Given the description of an element on the screen output the (x, y) to click on. 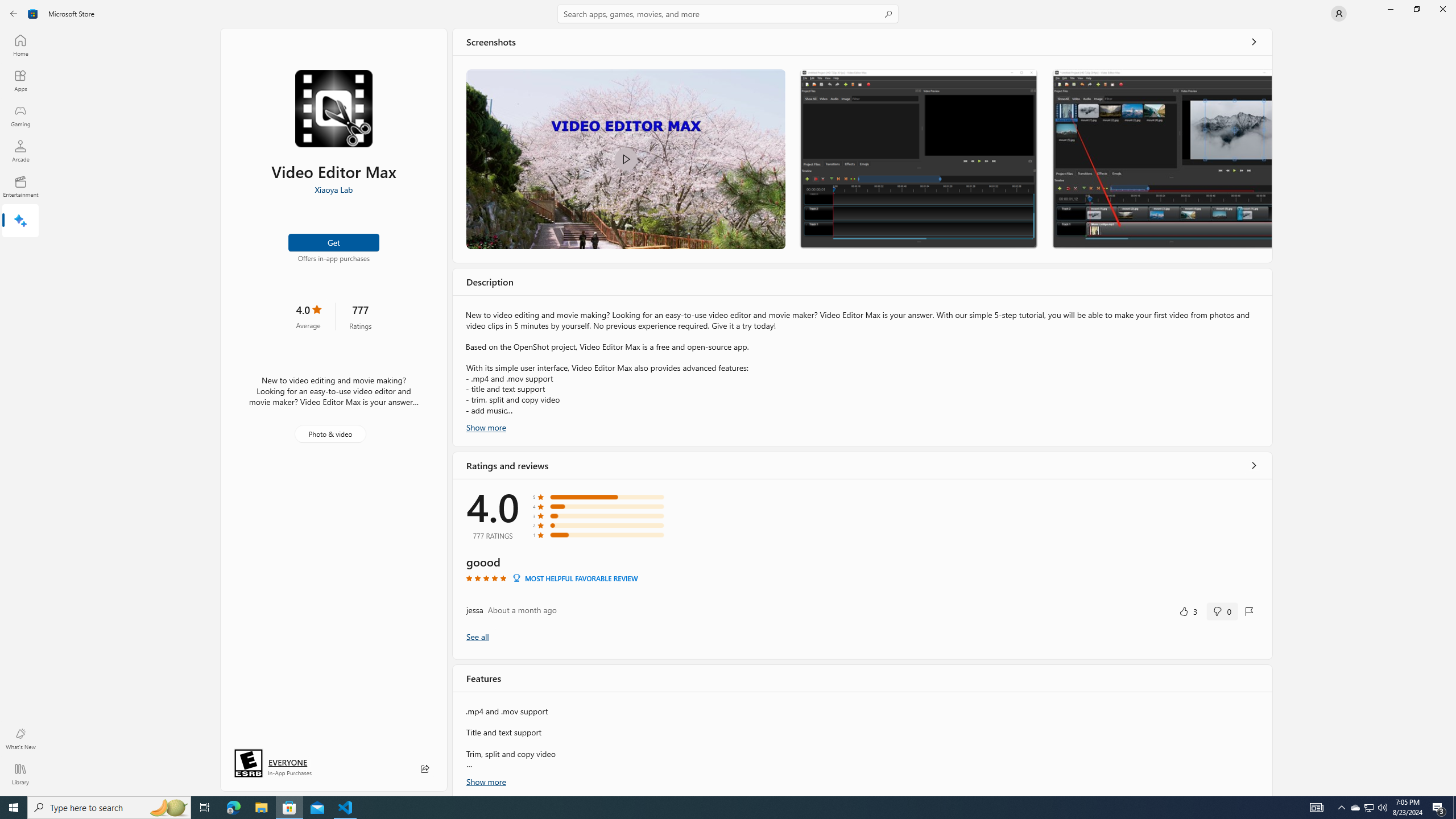
Xiaoya Lab (333, 189)
Video Editor Max Trailer (624, 158)
Apps (20, 80)
